Given the description of an element on the screen output the (x, y) to click on. 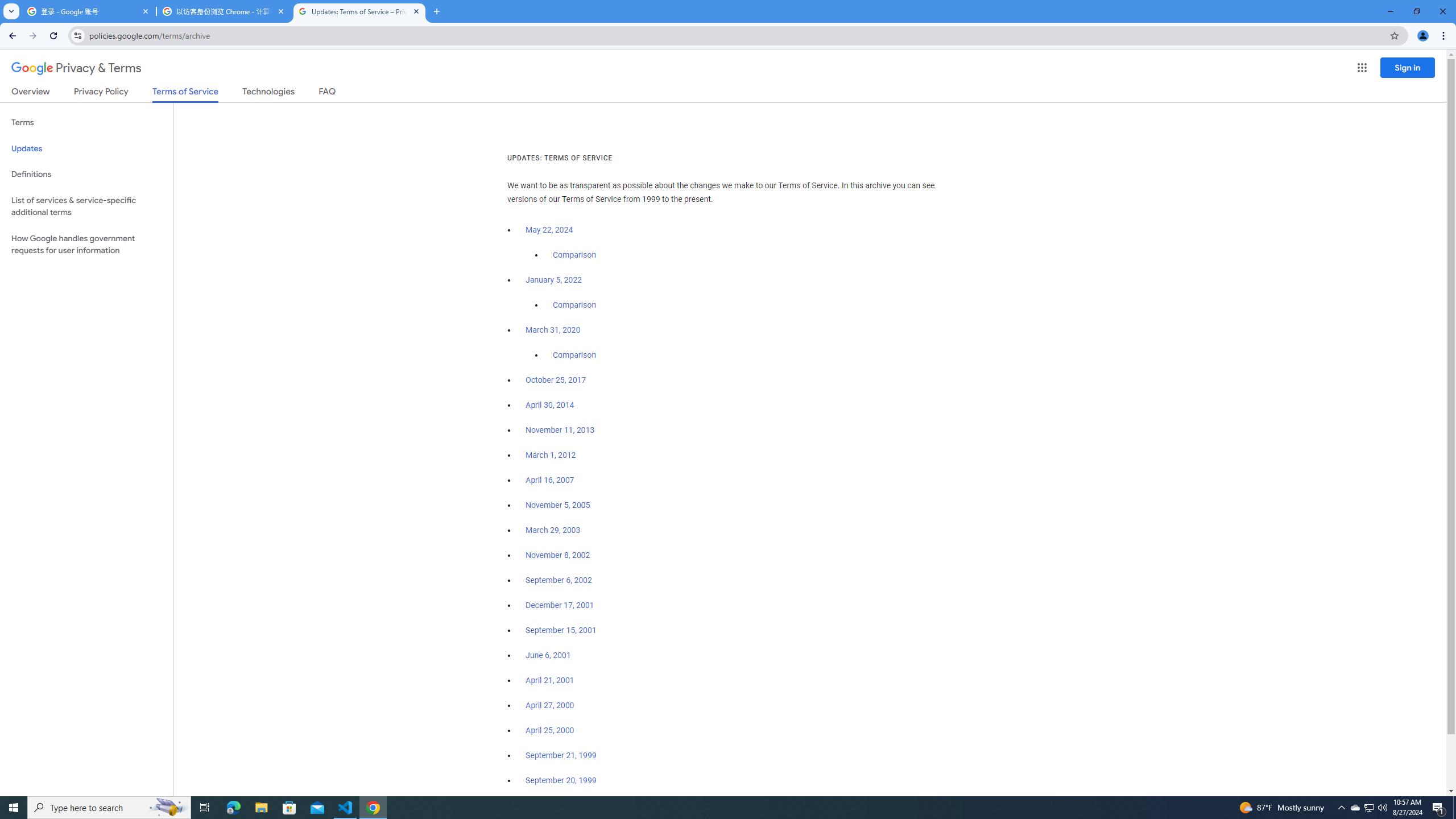
September 15, 2001 (560, 629)
May 22, 2024 (549, 230)
Comparison (574, 355)
September 21, 1999 (560, 755)
